Given the description of an element on the screen output the (x, y) to click on. 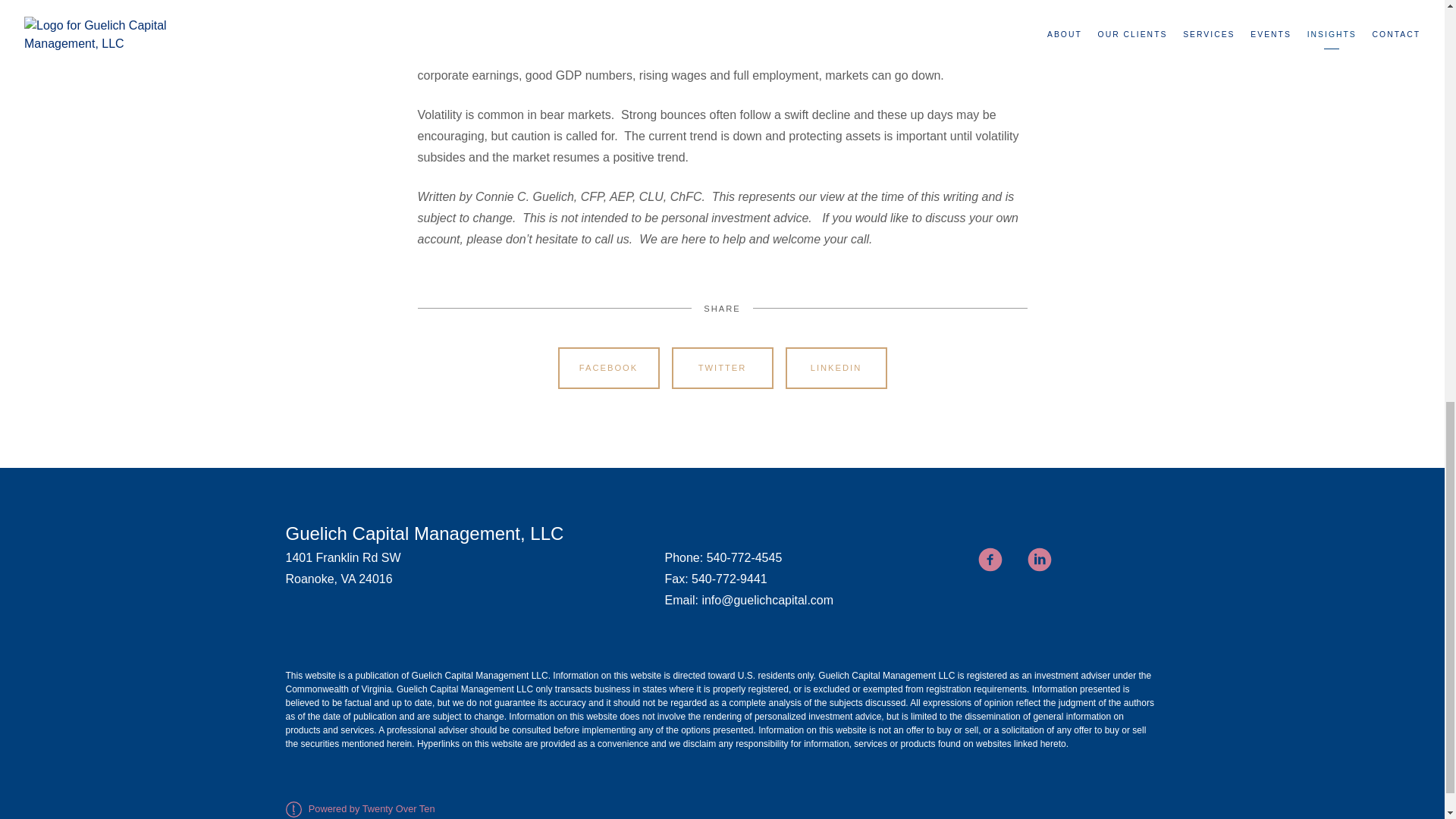
LINKEDIN (836, 368)
FACEBOOK (608, 368)
Powered by Twenty Over Ten (359, 808)
TWITTER (722, 368)
